Given the description of an element on the screen output the (x, y) to click on. 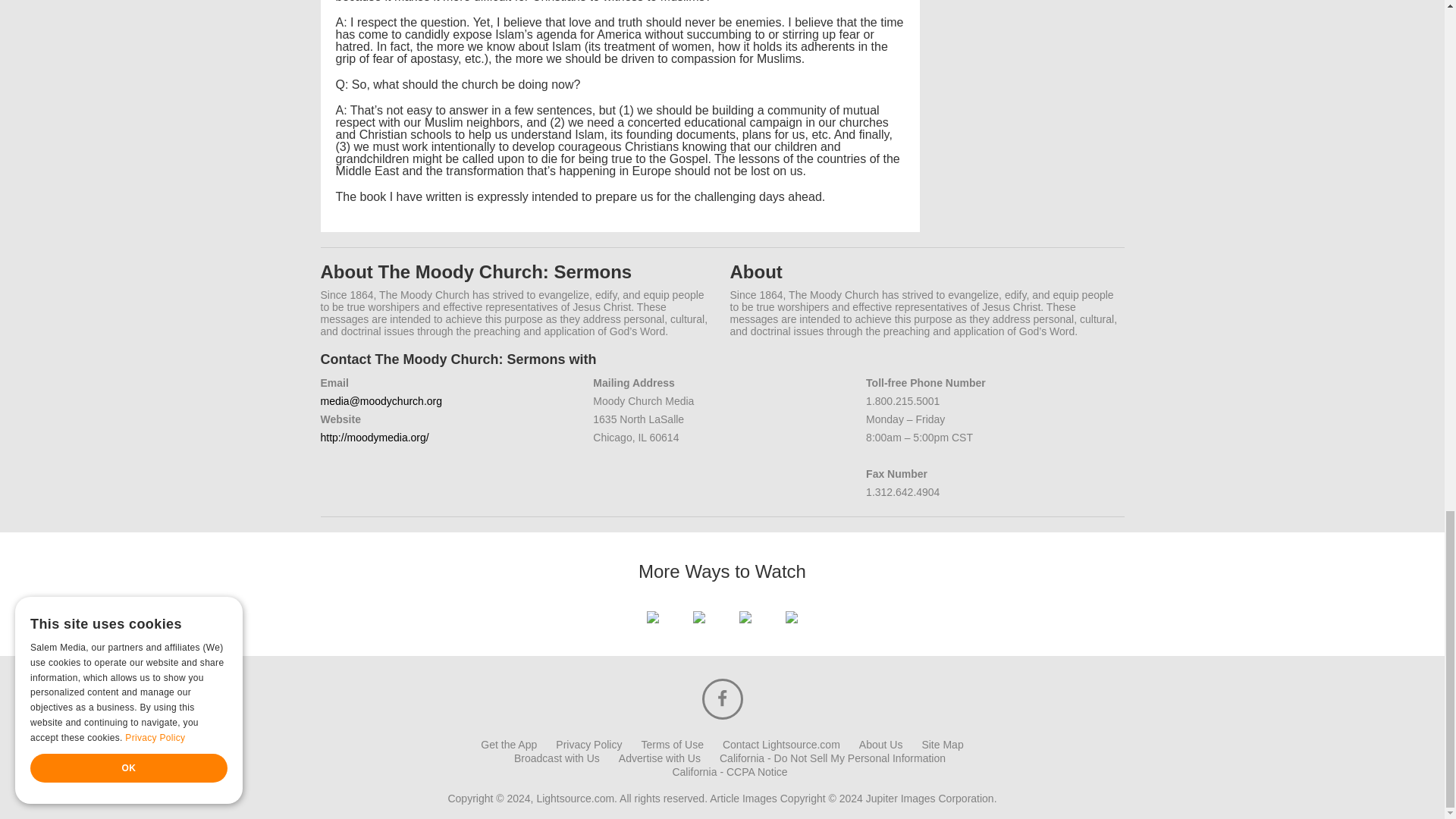
Terms of Use (671, 744)
Privacy Policy (588, 744)
Get the App (508, 744)
